Given the description of an element on the screen output the (x, y) to click on. 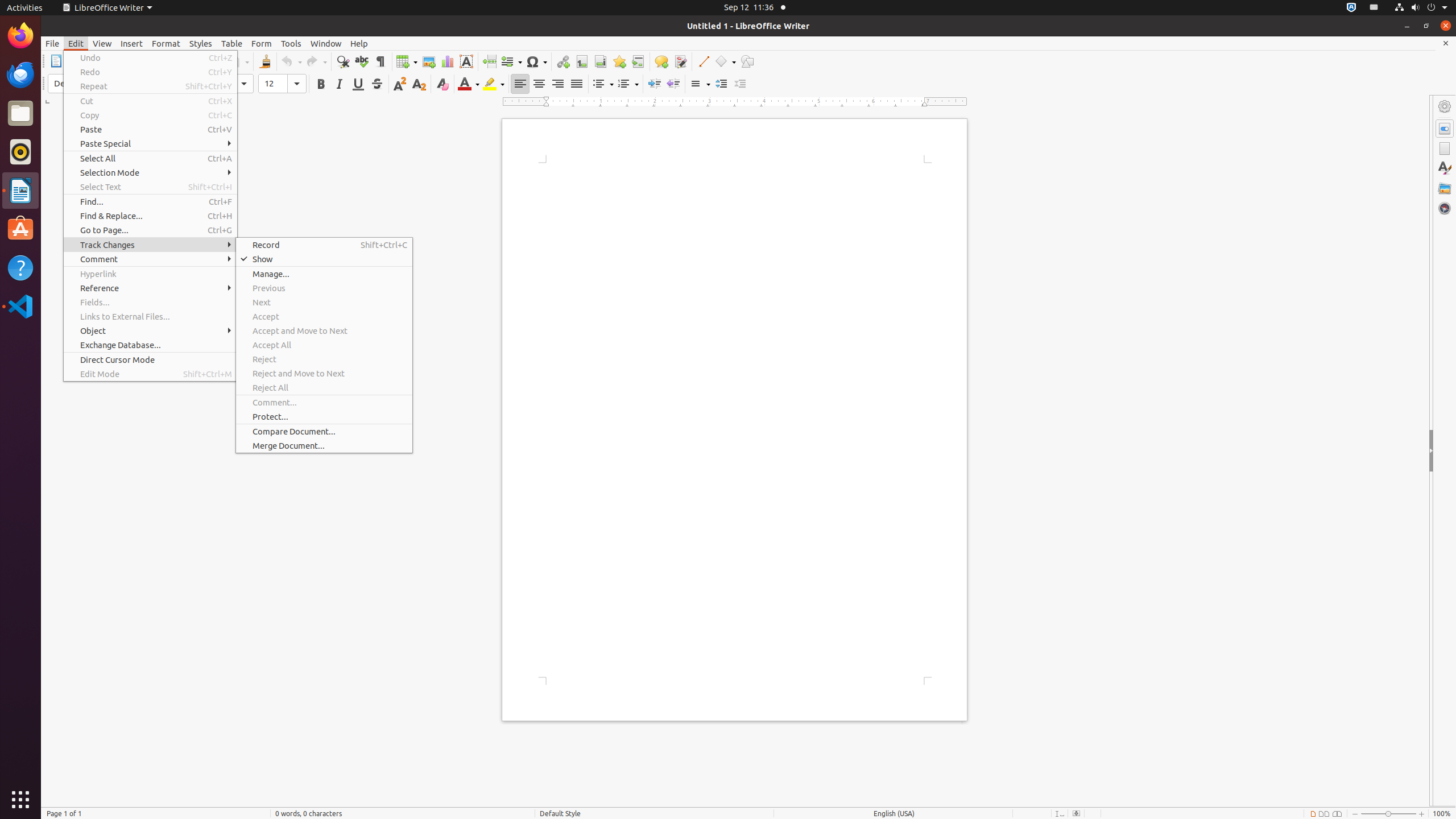
Paste Element type: menu-item (150, 129)
Chart Element type: push-button (446, 61)
Track Changes Element type: menu (150, 244)
Cut Element type: menu-item (150, 100)
Ubuntu Software Element type: push-button (20, 229)
